Given the description of an element on the screen output the (x, y) to click on. 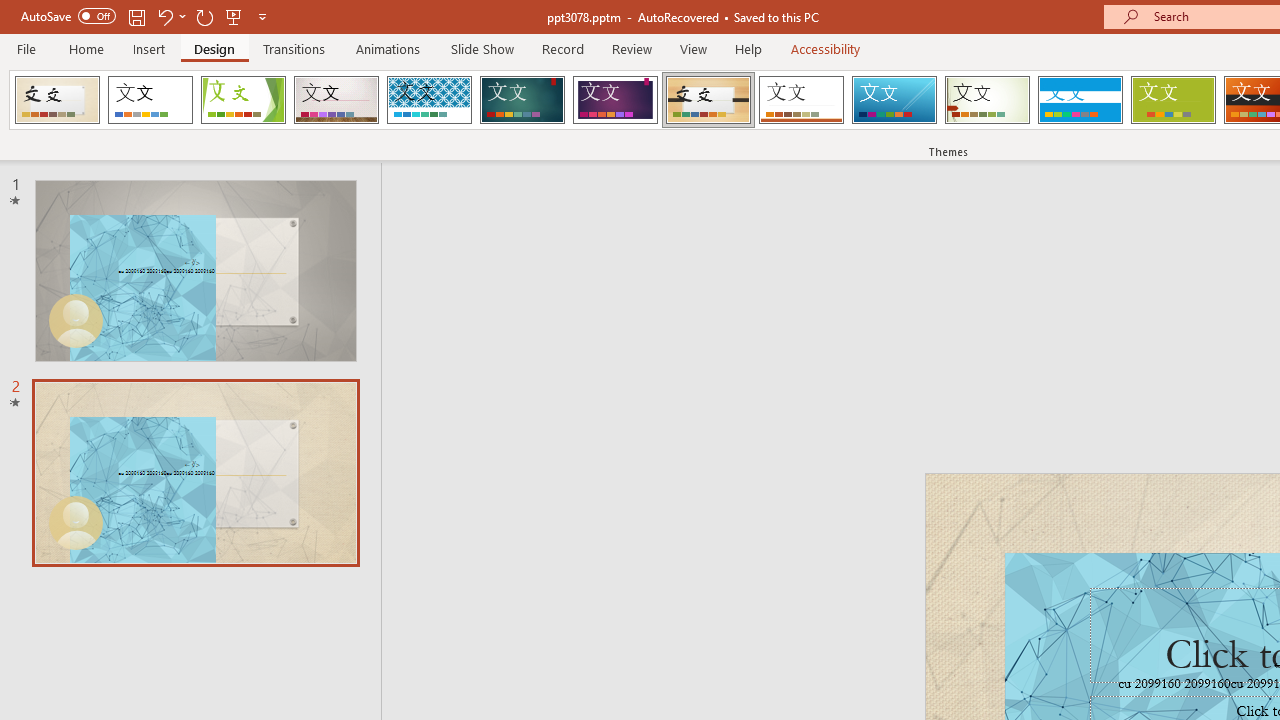
Facet (243, 100)
Basis (1172, 100)
Office Theme (150, 100)
Wisp (987, 100)
